Given the description of an element on the screen output the (x, y) to click on. 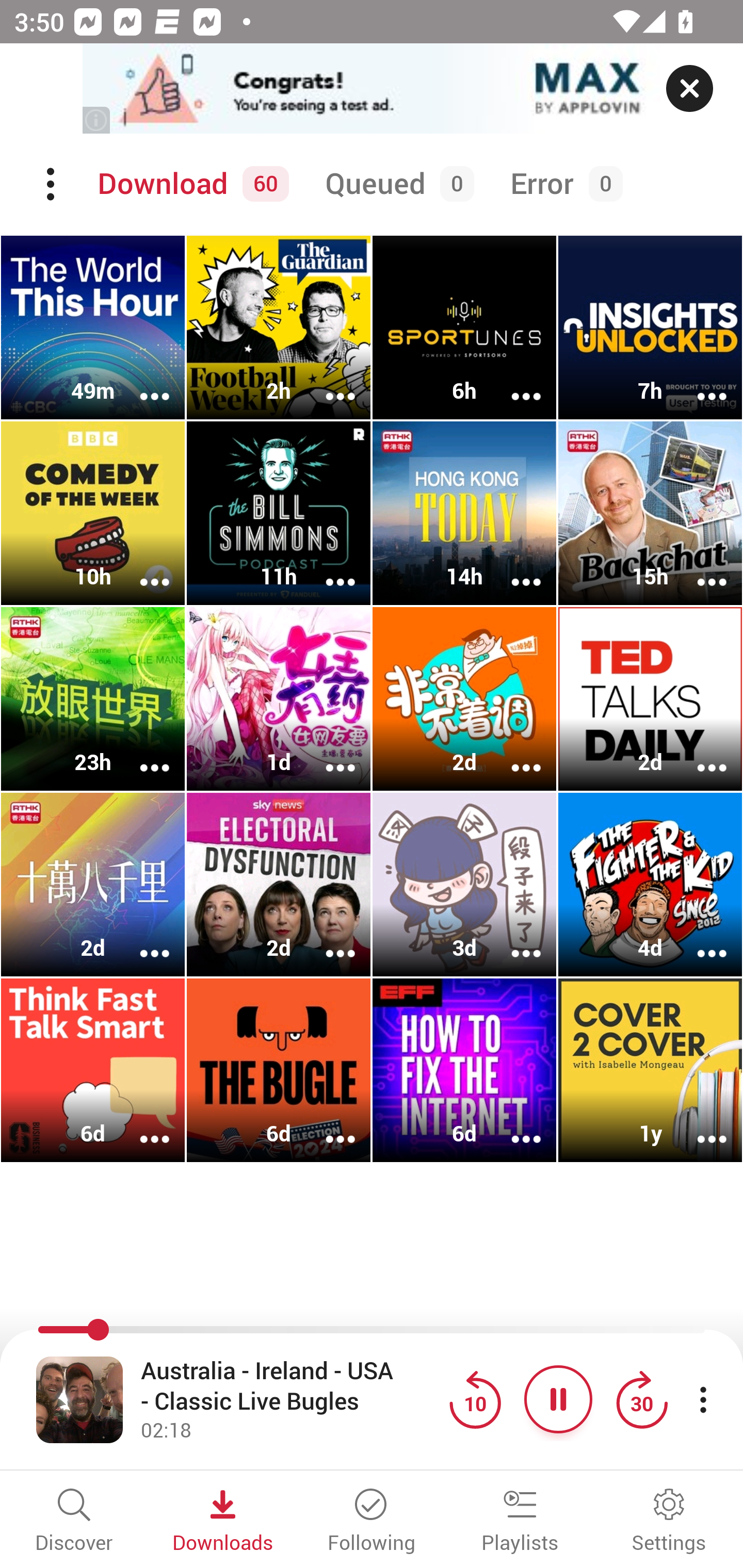
app-monetization (371, 88)
(i) (96, 119)
Menu (52, 184)
 Download 60 (189, 184)
 Queued 0 (396, 184)
 Error 0 (562, 184)
The World This Hour 49m More options More options (92, 327)
Football Weekly 2h More options More options (278, 327)
Sportunes HK 6h More options More options (464, 327)
Insights Unlocked 7h More options More options (650, 327)
More options (141, 382)
More options (326, 382)
More options (512, 382)
More options (698, 382)
Comedy of the Week 10h More options More options (92, 513)
Hong Kong Today 14h More options More options (464, 513)
Backchat 15h More options More options (650, 513)
More options (141, 569)
More options (326, 569)
More options (512, 569)
More options (698, 569)
放眼世界 23h More options More options (92, 698)
女王有药丨爆笑脱口秀 1d More options More options (278, 698)
非常不着调 2d More options More options (464, 698)
TED Talks Daily 2d More options More options (650, 698)
More options (141, 754)
More options (326, 754)
More options (512, 754)
More options (698, 754)
十萬八千里 2d More options More options (92, 883)
Electoral Dysfunction 2d More options More options (278, 883)
段子来了 3d More options More options (464, 883)
The Fighter & The Kid 4d More options More options (650, 883)
More options (141, 940)
More options (326, 940)
More options (512, 940)
More options (698, 940)
The Bugle 6d More options More options (278, 1069)
Cover 2 Cover 1y More options More options (650, 1069)
More options (141, 1125)
More options (326, 1125)
More options (512, 1125)
More options (698, 1125)
Open fullscreen player (79, 1399)
More player controls (703, 1399)
Australia - Ireland - USA - Classic Live Bugles (290, 1385)
Pause button (558, 1398)
Jump back (475, 1399)
Jump forward (641, 1399)
Discover (74, 1521)
Downloads (222, 1521)
Following (371, 1521)
Playlists (519, 1521)
Settings (668, 1521)
